Given the description of an element on the screen output the (x, y) to click on. 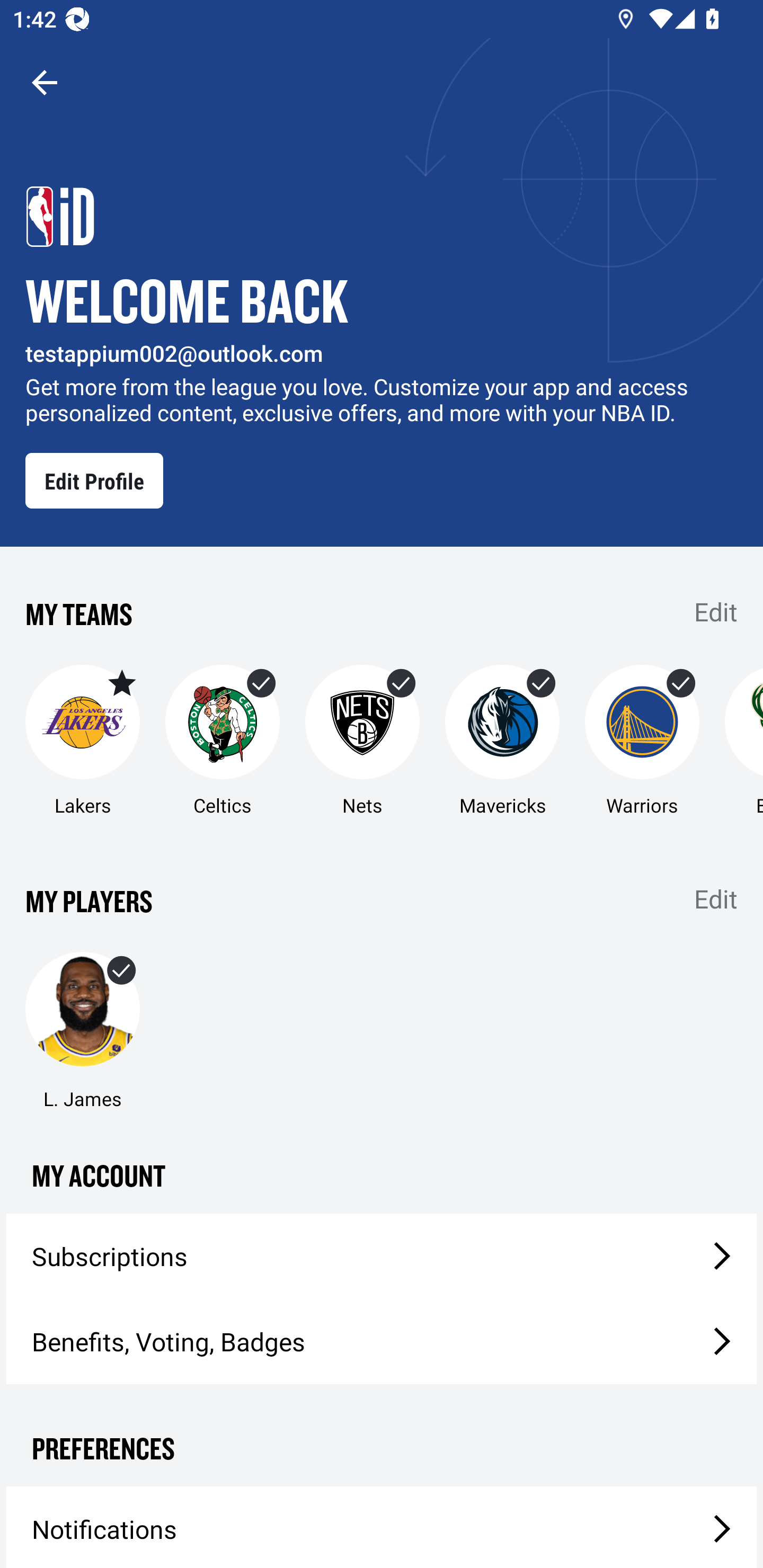
Navigate up (44, 82)
Edit Profile (94, 480)
Edit (715, 611)
Lakers (82, 741)
Celtics (222, 741)
Nets (362, 741)
Mavericks (501, 741)
Warriors (642, 741)
Edit (715, 898)
L. James (82, 1031)
Subscriptions (381, 1255)
Benefits, Voting, Badges (381, 1341)
Notifications (381, 1527)
